Given the description of an element on the screen output the (x, y) to click on. 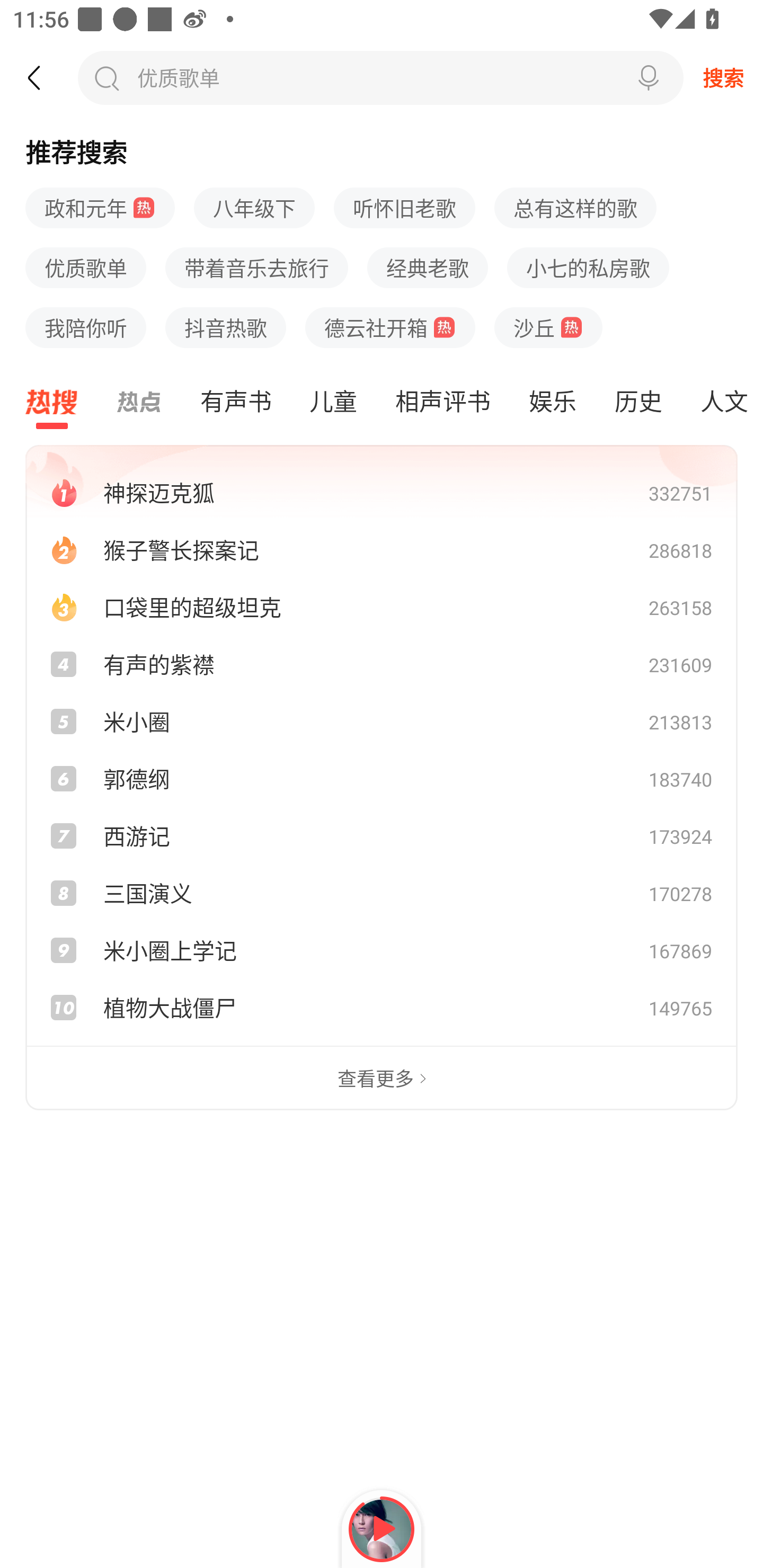
返回 (43, 77)
已经选择搜索功能,当前搜索框内容为优质歌单  优质歌单 语音搜索 (380, 77)
语音搜索 (648, 77)
搜索 (723, 77)
 优质歌单 (175, 77)
政和元年 (99, 208)
八年级下 (253, 208)
听怀旧老歌 (404, 208)
总有这样的歌 (575, 208)
优质歌单 (85, 267)
带着音乐去旅行 (256, 267)
经典老歌 (427, 267)
小七的私房歌 (588, 267)
我陪你听 (85, 327)
抖音热歌 (225, 327)
德云社开箱 (390, 327)
沙丘 (548, 327)
热搜 (51, 401)
热点 (138, 401)
有声书 (235, 401)
儿童 (333, 401)
相声评书 (442, 401)
娱乐 (552, 401)
历史 (638, 401)
人文 (722, 401)
1 神探迈克狐 332751 (381, 492)
2 猴子警长探案记 286818 (381, 549)
3 口袋里的超级坦克 263158 (381, 606)
4 有声的紫襟 231609 (381, 664)
5 米小圈 213813 (381, 721)
6 郭德纲 183740 (381, 778)
7 西游记 173924 (381, 835)
8 三国演义 170278 (381, 892)
9 米小圈上学记 167869 (381, 949)
10 植物大战僵尸 149765 (381, 1007)
查看更多 (381, 1078)
继续播放Alpha-橘子海OrangeOcean (381, 1529)
